Given the description of an element on the screen output the (x, y) to click on. 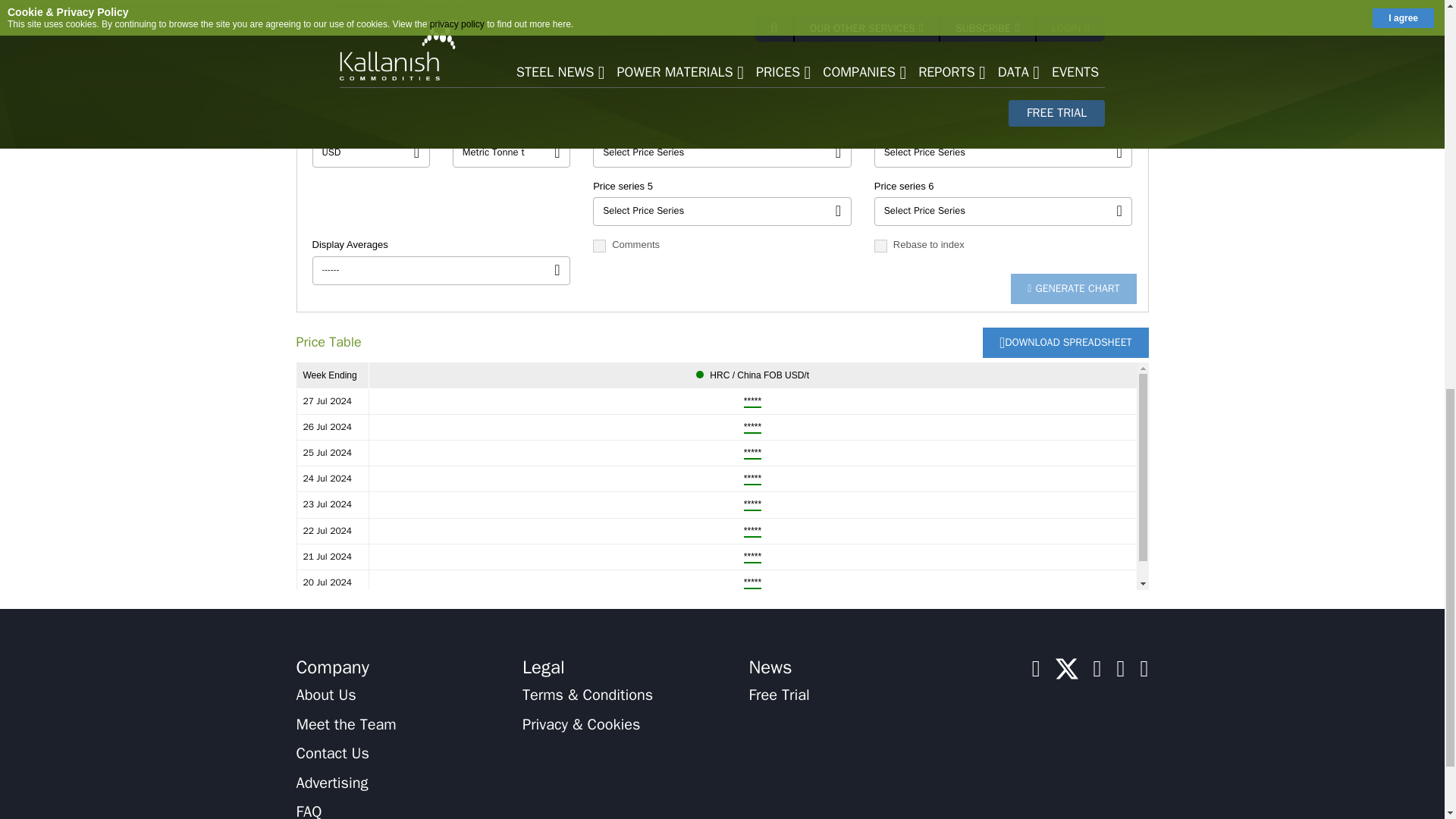
Select Price Series (1003, 152)
Select Price Series (1003, 93)
Metric Tonne t (511, 152)
Select Price Series (1003, 211)
Nothing selected (721, 93)
Subscribe to be able to download prices (1065, 342)
------ (441, 270)
USD (371, 152)
None (371, 93)
None (511, 93)
Select Price Series (721, 211)
Select Price Series (721, 152)
